Given the description of an element on the screen output the (x, y) to click on. 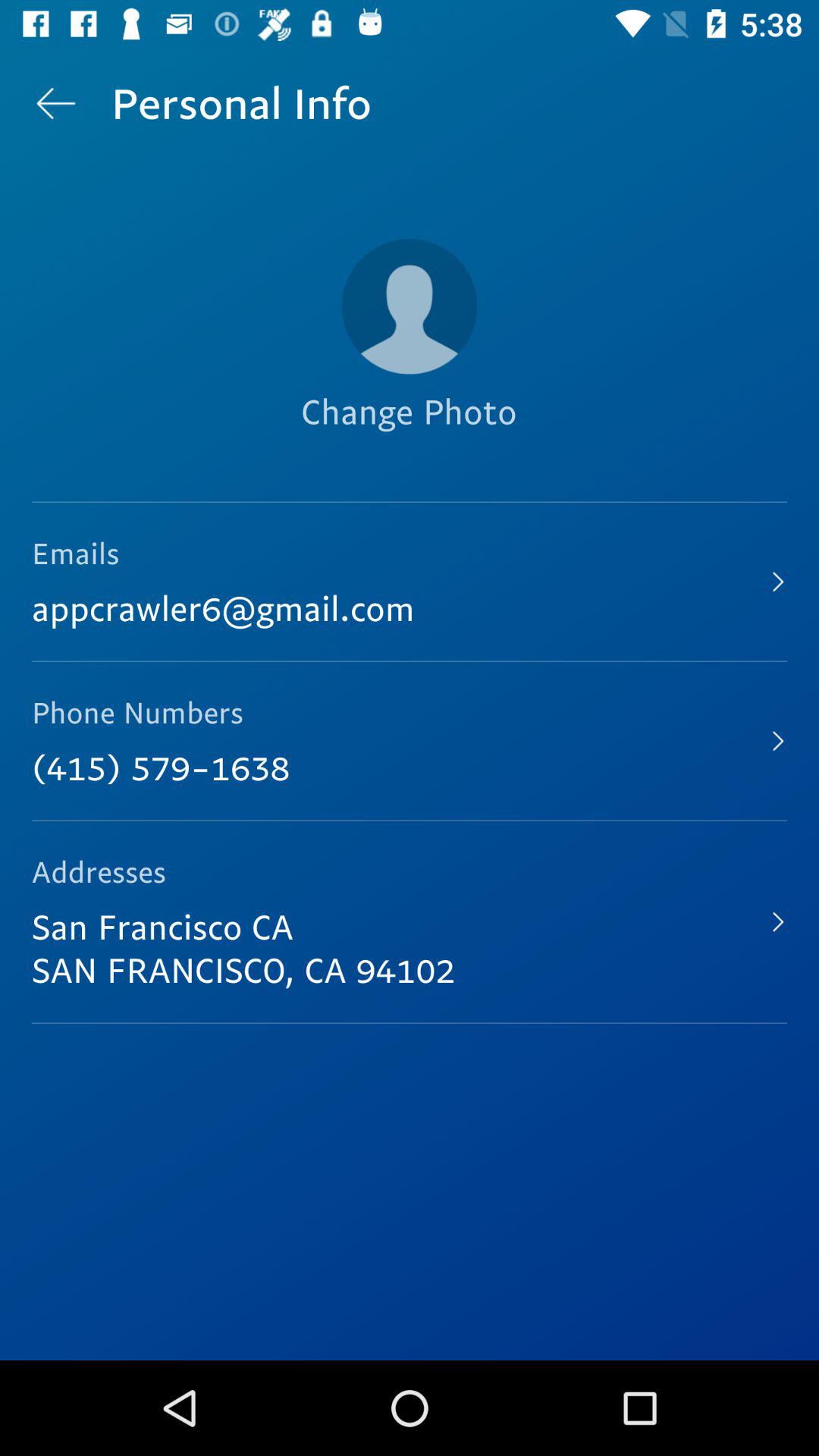
scroll to change photo icon (408, 437)
